Given the description of an element on the screen output the (x, y) to click on. 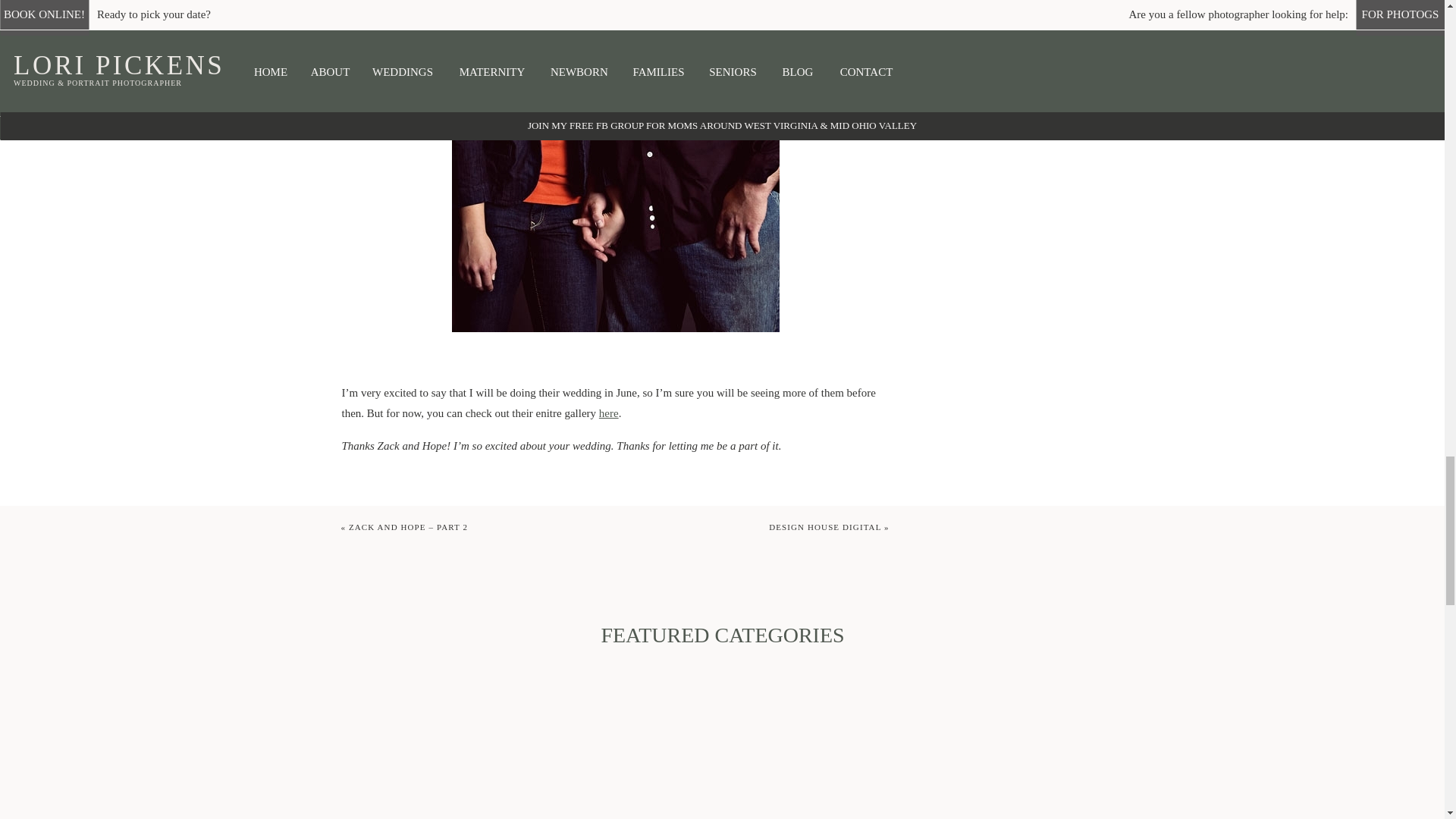
DESIGN HOUSE DIGITAL (824, 526)
here (608, 413)
